Given the description of an element on the screen output the (x, y) to click on. 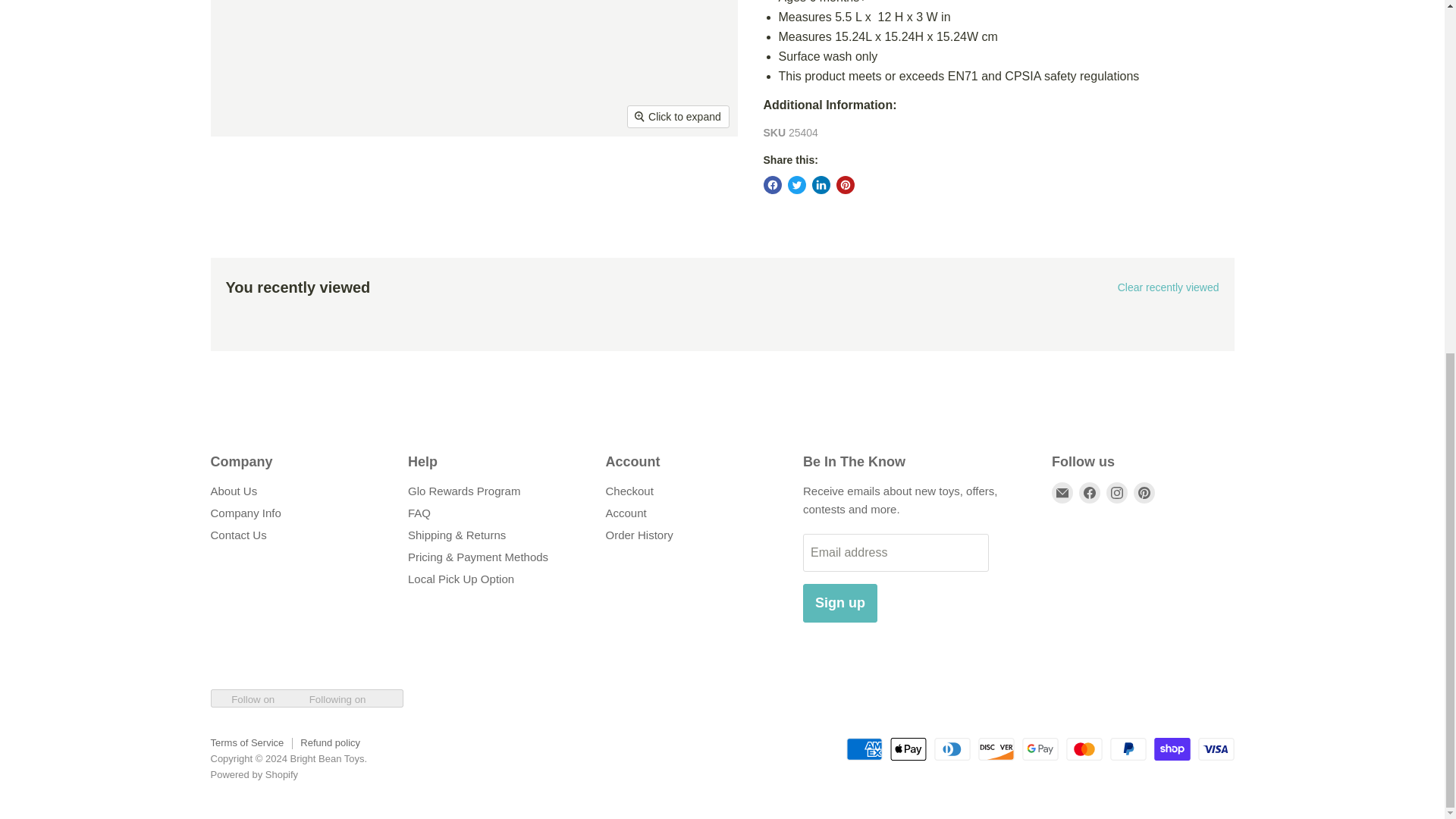
Pinterest (1144, 492)
Email (1062, 492)
Facebook (1089, 492)
Instagram (1116, 492)
